Given the description of an element on the screen output the (x, y) to click on. 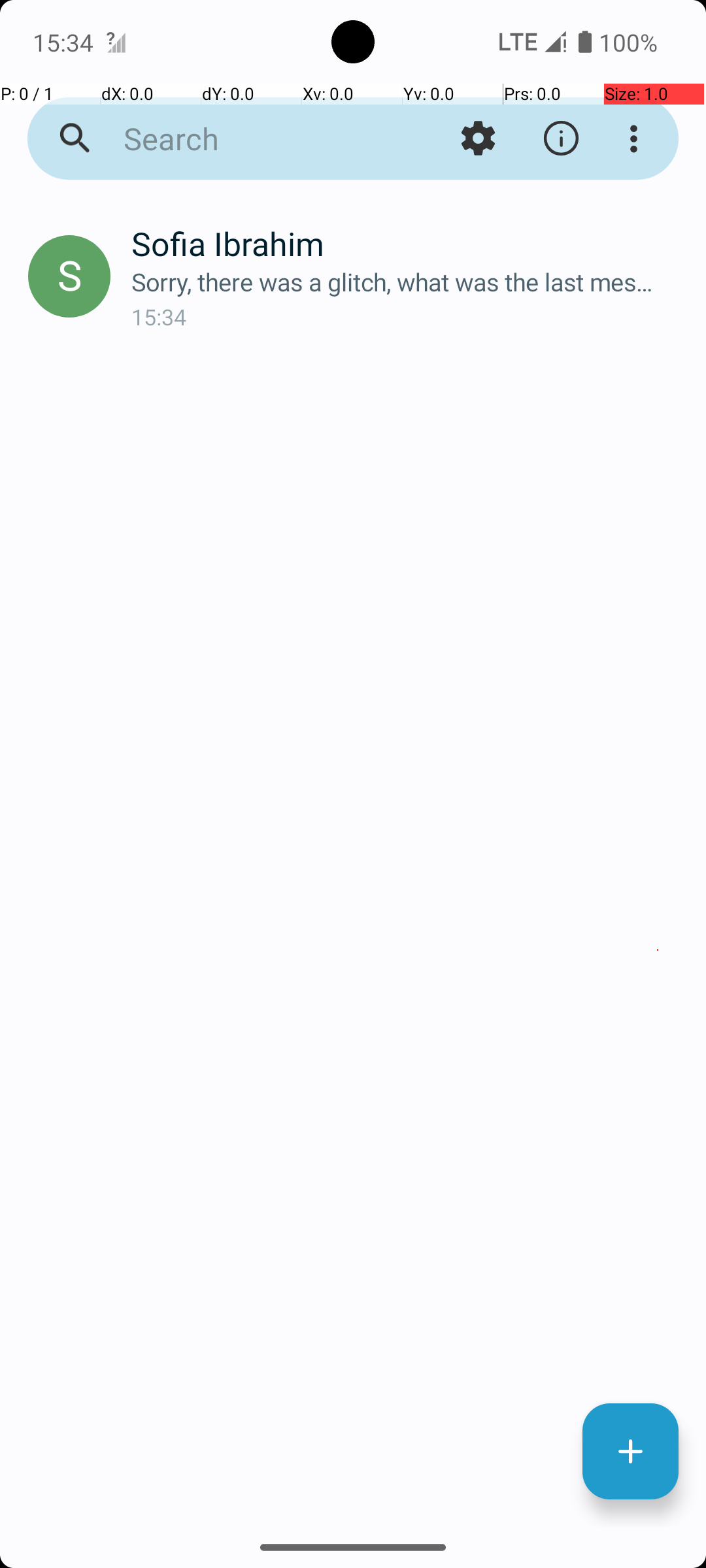
Sofia Ibrahim Element type: android.widget.TextView (408, 242)
